Given the description of an element on the screen output the (x, y) to click on. 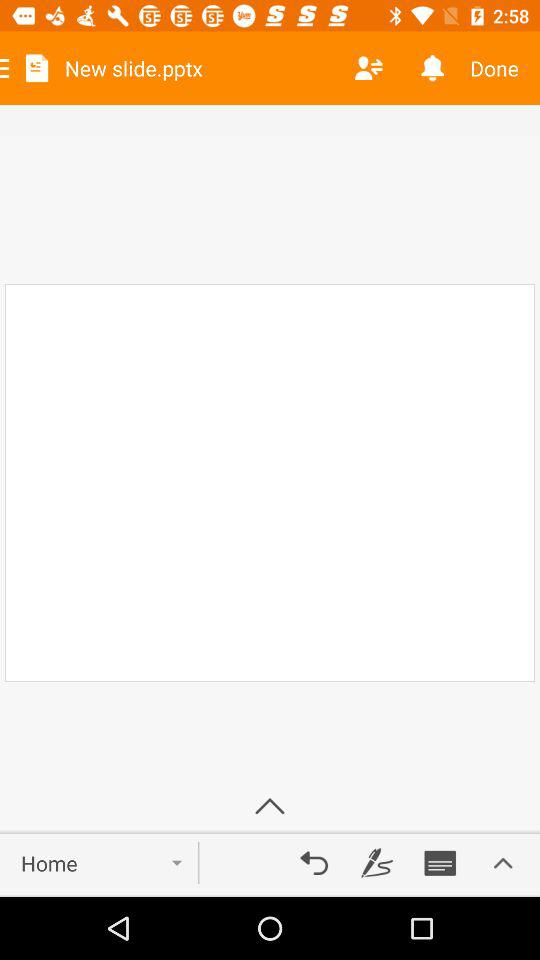
open the icon to the left of the done (431, 68)
